Given the description of an element on the screen output the (x, y) to click on. 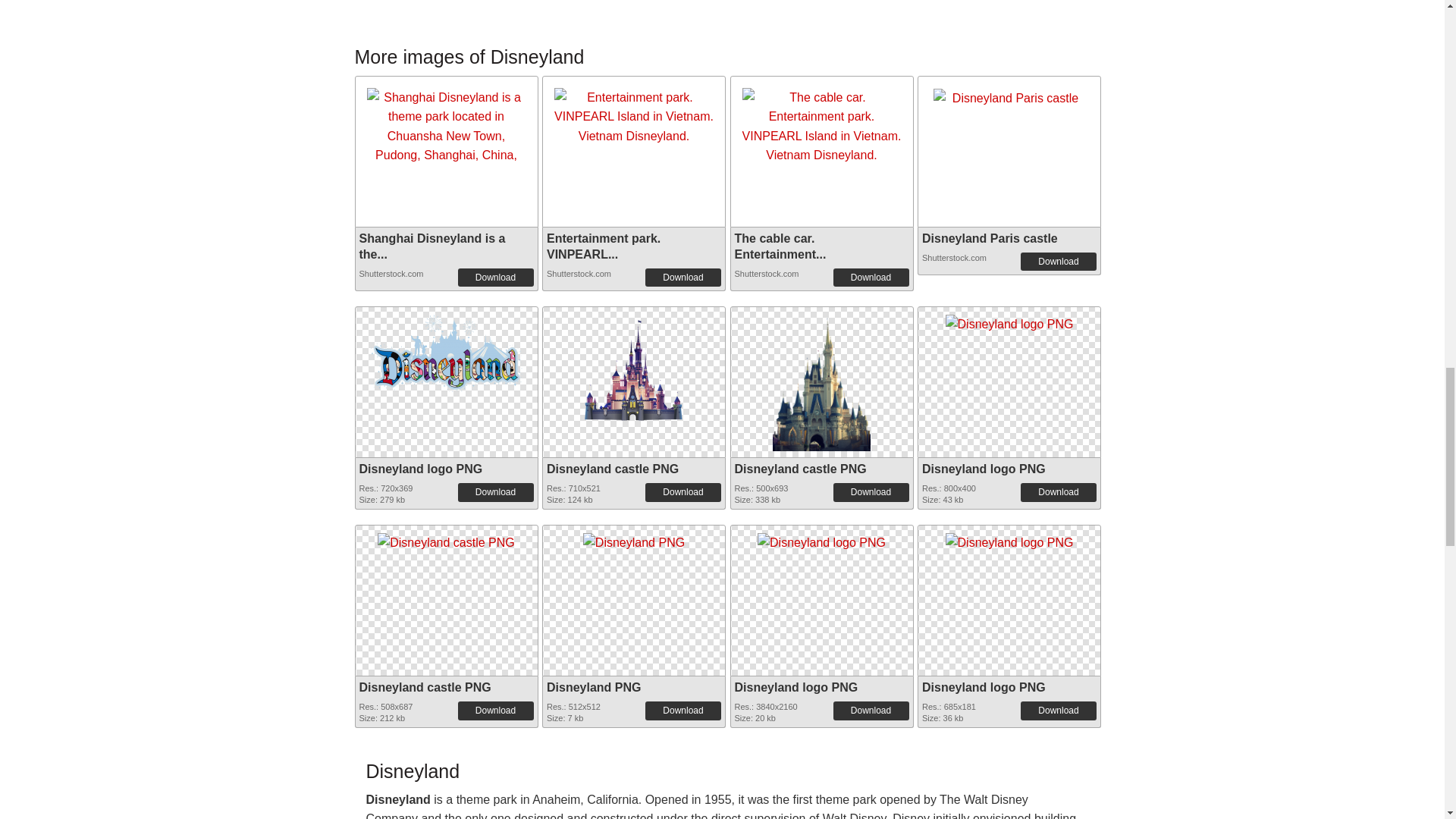
Disneyland logo PNG (1009, 320)
Disneyland castle PNG (633, 365)
Disneyland logo PNG (983, 468)
Download (870, 277)
Download (682, 492)
Download (496, 492)
Disneyland logo PNG (445, 349)
Disneyland castle PNG (633, 366)
Entertainment park. VINPEARL... (604, 246)
The cable car. Entertainment... (779, 246)
